Given the description of an element on the screen output the (x, y) to click on. 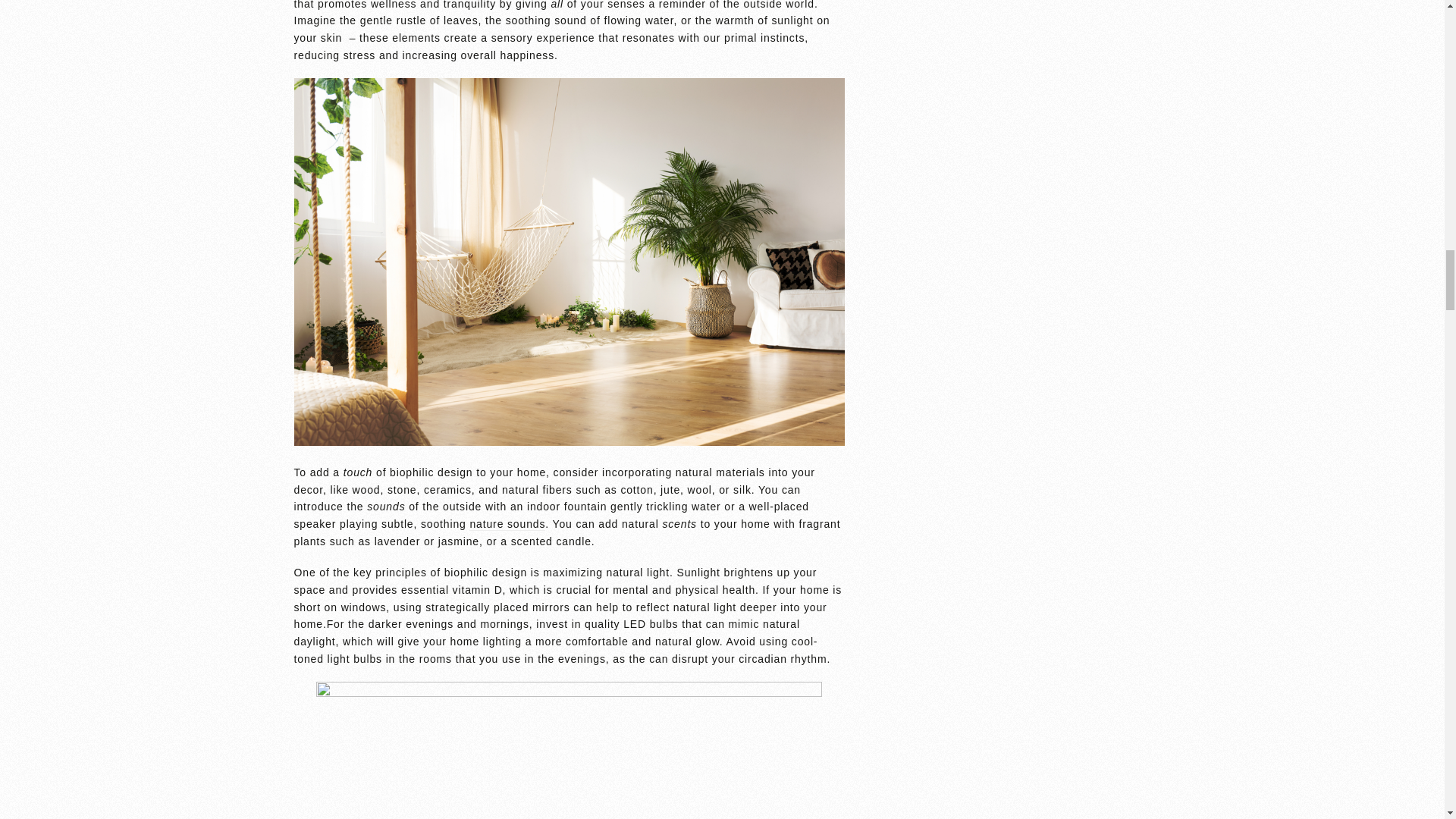
nature sounds (506, 523)
